Given the description of an element on the screen output the (x, y) to click on. 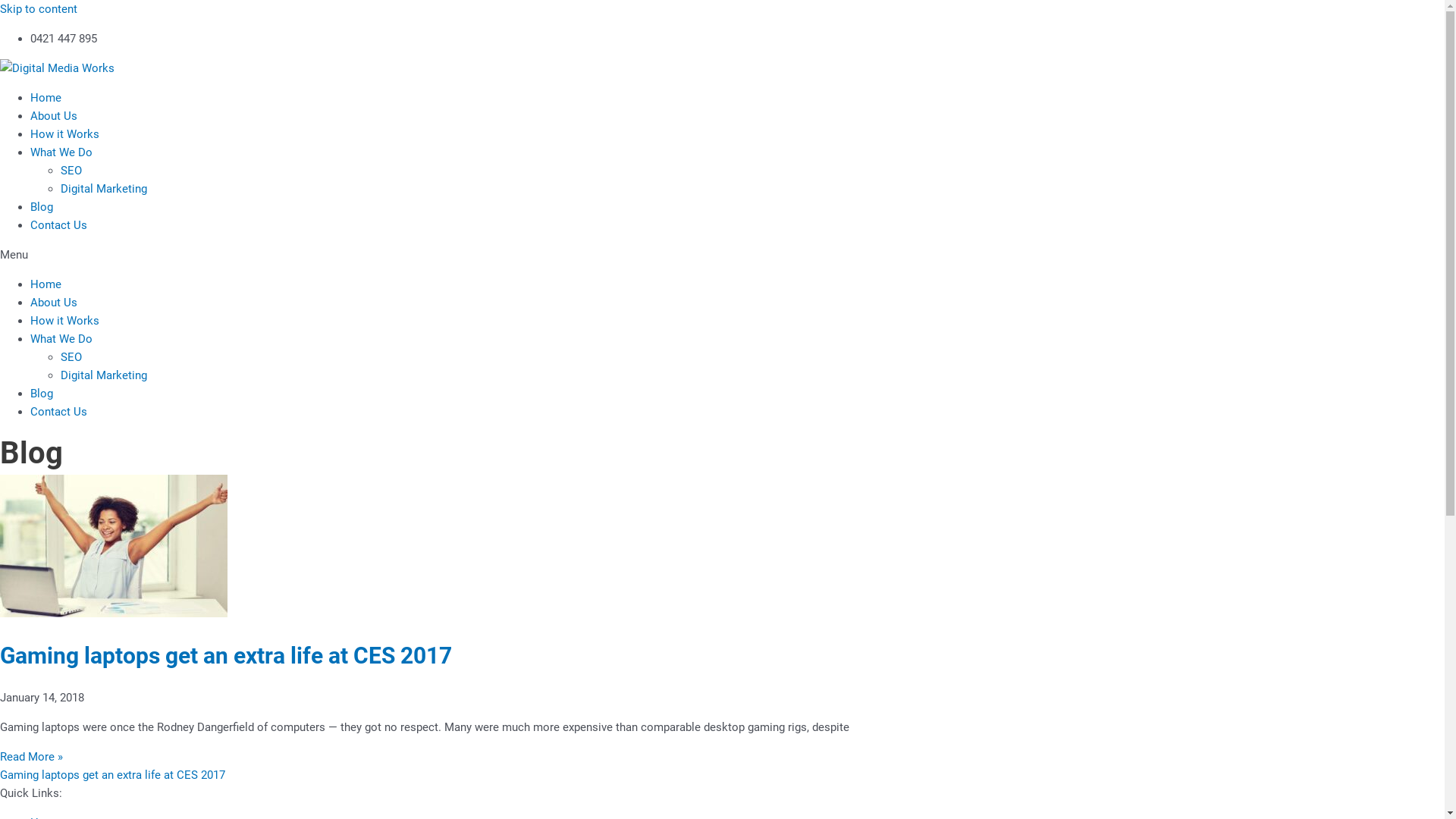
Home Element type: text (45, 284)
Contact Us Element type: text (58, 225)
How it Works Element type: text (64, 134)
Skip to content Element type: text (38, 8)
SEO Element type: text (70, 357)
Gaming laptops get an extra life at CES 2017 Element type: text (225, 655)
About Us Element type: text (53, 302)
What We Do Element type: text (61, 152)
How it Works Element type: text (64, 320)
SEO Element type: text (70, 170)
Blog Element type: text (41, 393)
Blog Element type: text (41, 206)
Gaming laptops get an extra life at CES 2017 Element type: text (112, 774)
Digital Marketing Element type: text (103, 188)
Digital Marketing Element type: text (103, 375)
What We Do Element type: text (61, 338)
About Us Element type: text (53, 115)
Contact Us Element type: text (58, 411)
Home Element type: text (45, 97)
